Given the description of an element on the screen output the (x, y) to click on. 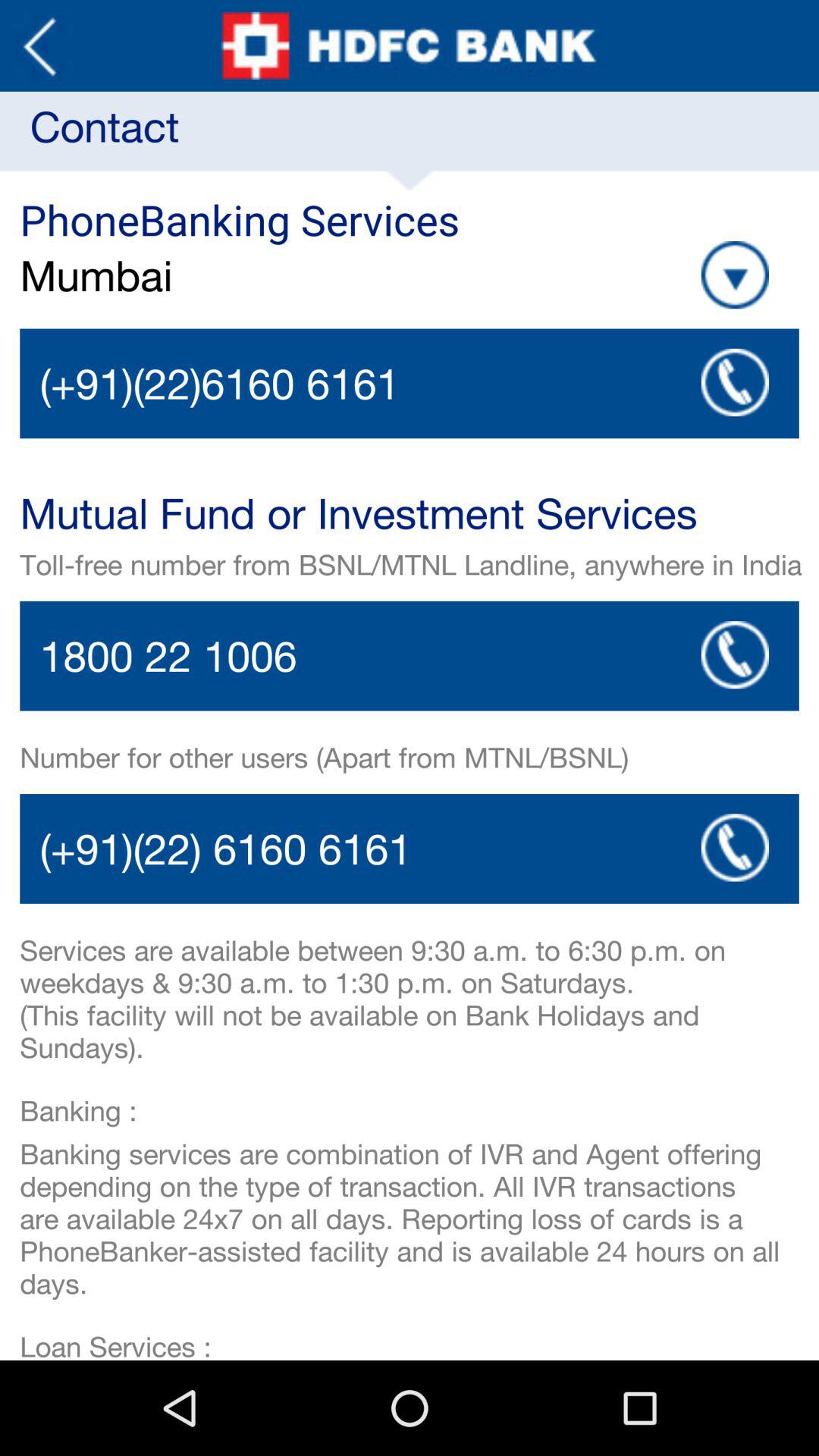
call to (734, 847)
